Given the description of an element on the screen output the (x, y) to click on. 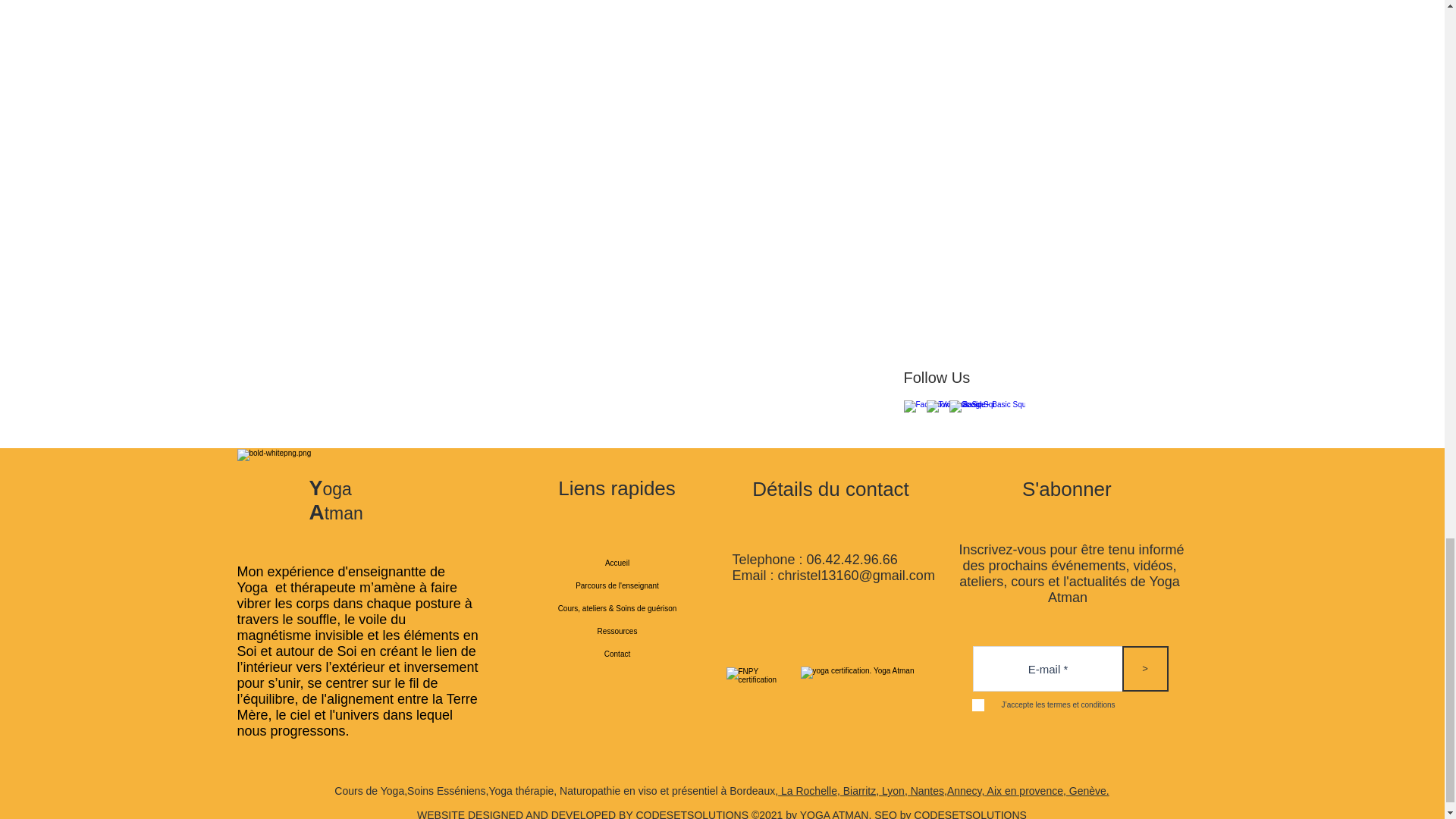
Contact (617, 653)
Accueil (617, 563)
Parcours de l'enseignant (617, 585)
